Given the description of an element on the screen output the (x, y) to click on. 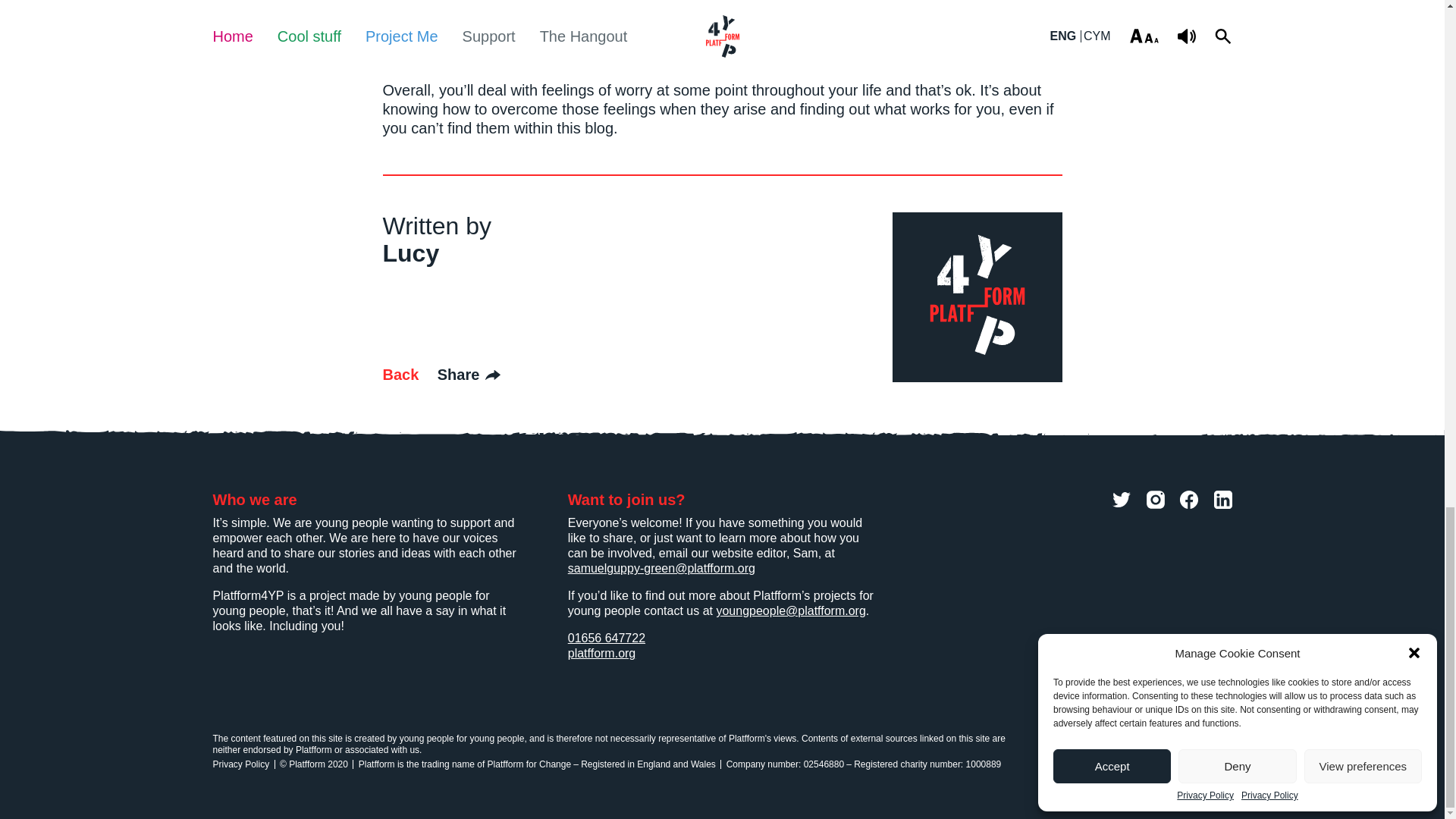
platfform.org (601, 653)
01656 647722 (606, 637)
Back (400, 374)
